Given the description of an element on the screen output the (x, y) to click on. 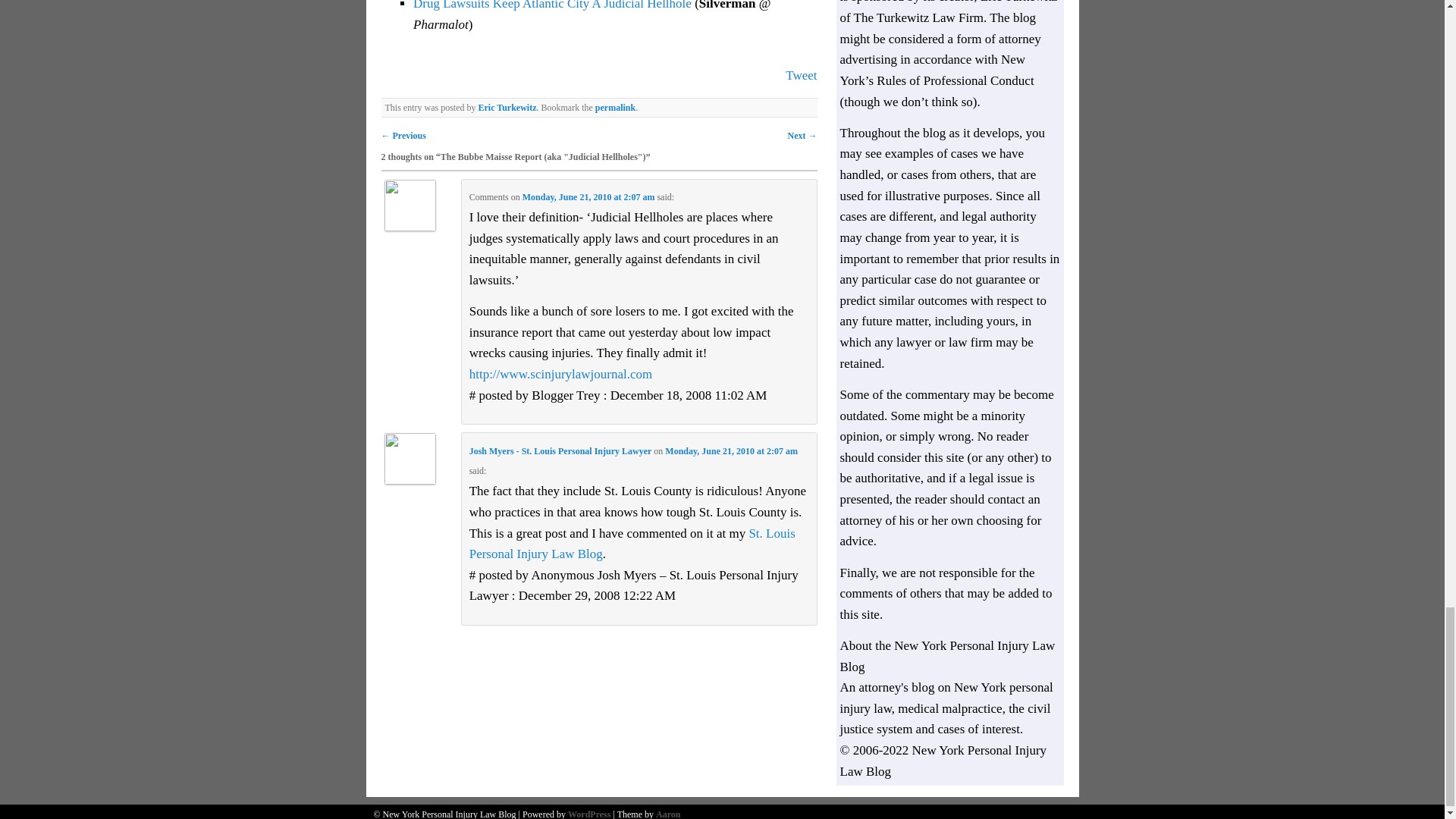
Semantic Personal Publishing Platform (588, 814)
Monday, June 21, 2010 at 2:07 am (588, 196)
Eric Turkewitz (506, 107)
Tweet (801, 74)
permalink (614, 107)
Monday, June 21, 2010 at 2:07 am (731, 450)
Freelance Theme Developer (667, 814)
Drug Lawsuits Keep Atlantic City A Judicial Hellhole (553, 5)
Josh Myers - St. Louis Personal Injury Lawyer (560, 450)
St. Louis Personal Injury Law Blog (631, 543)
